Given the description of an element on the screen output the (x, y) to click on. 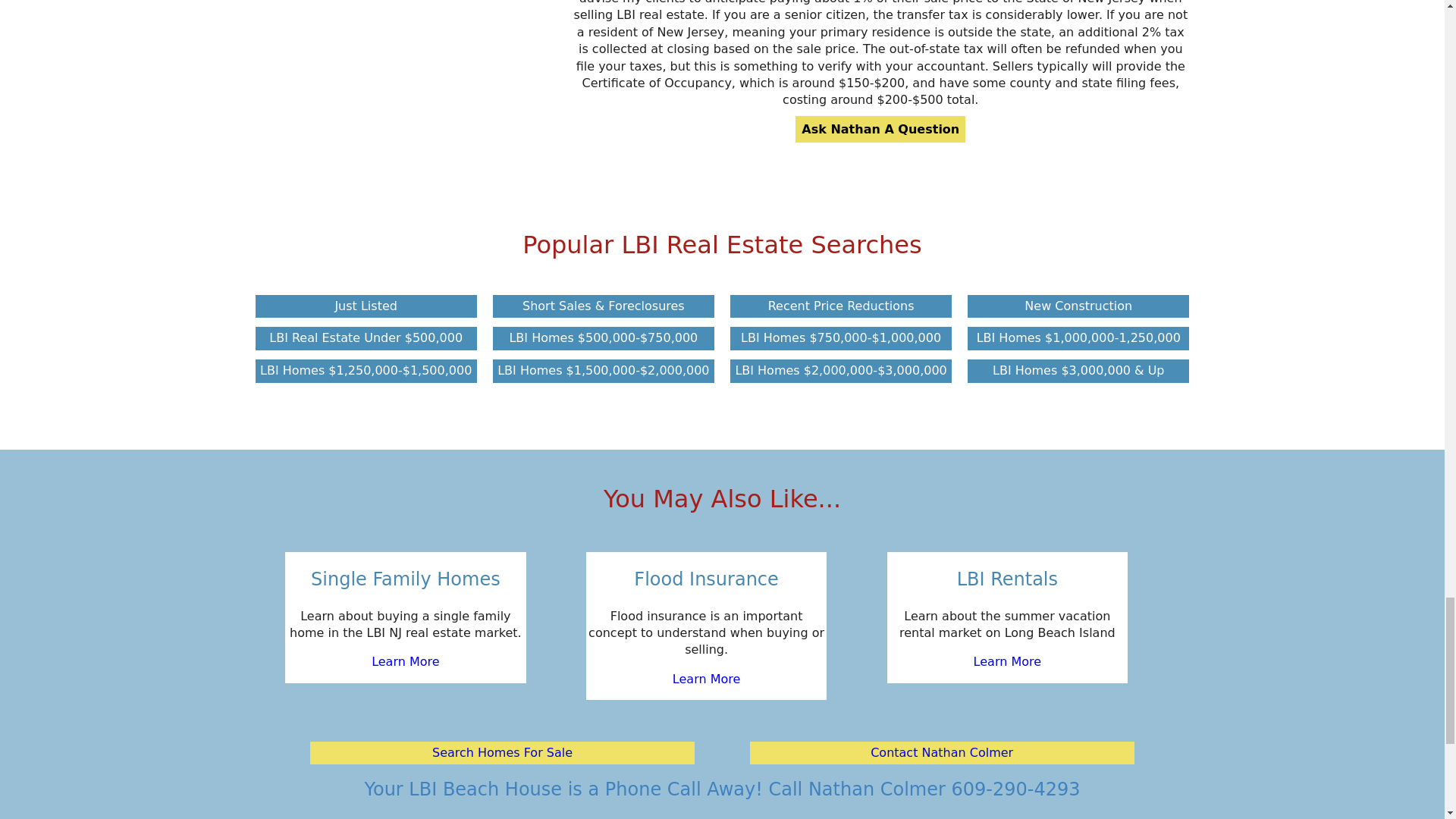
Recent Price Reductions (841, 305)
Ask Nathan A Question (879, 129)
New Construction (1078, 305)
Just Listed (365, 305)
